Given the description of an element on the screen output the (x, y) to click on. 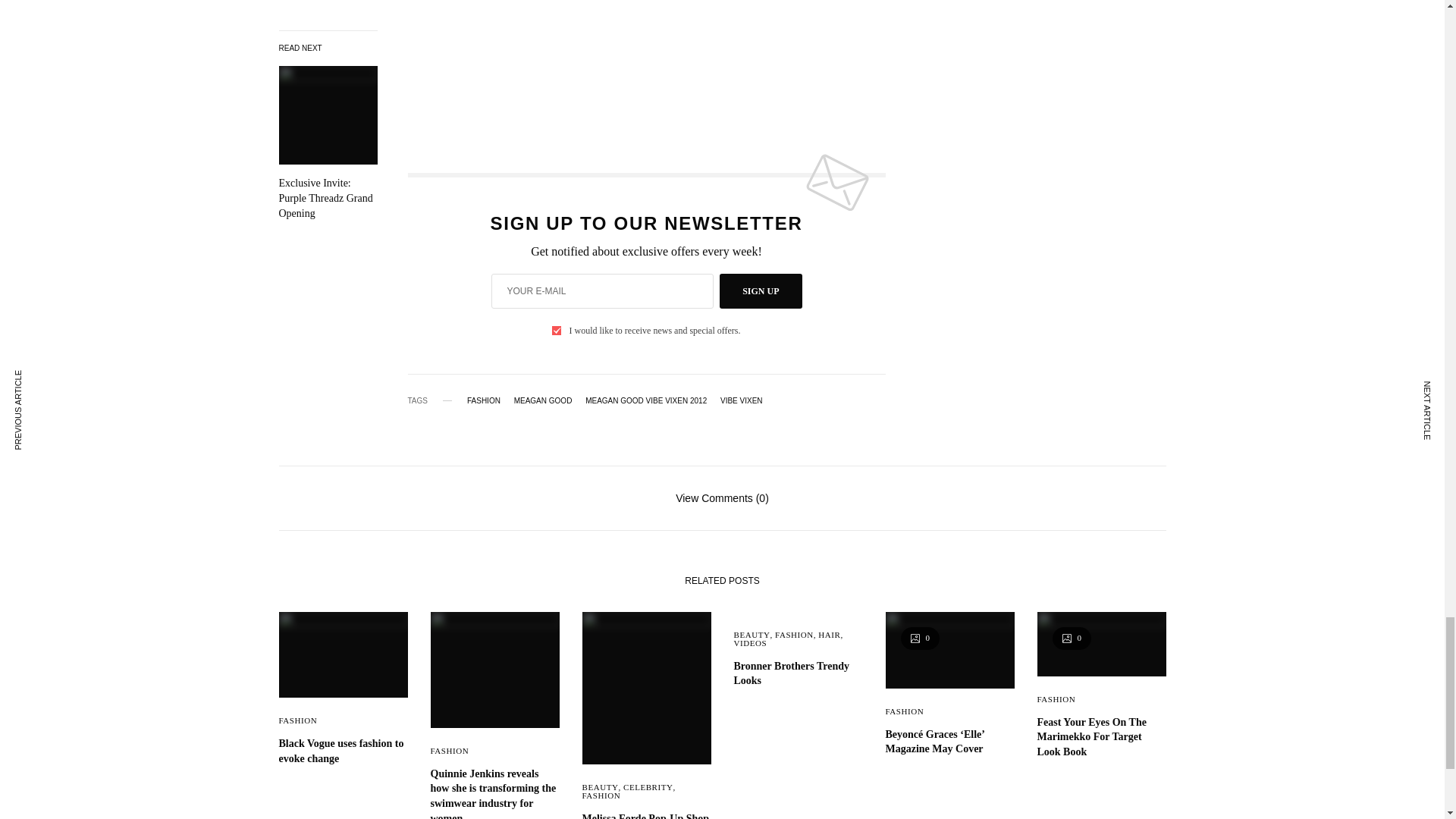
FASHION (449, 750)
Melissa Forde Pop-Up Shop 10.01.17 (646, 815)
FASHION (601, 795)
VIBE VIXEN (741, 400)
CELEBRITY (647, 786)
BEAUTY (600, 786)
SIGN UP (760, 290)
Black Vogue uses fashion to evoke change (343, 750)
FASHION (483, 400)
Black Vogue uses fashion to evoke change (343, 750)
FASHION (298, 719)
meagan-Good-vibe-vixen-300x240 (472, 54)
MEAGAN GOOD VIBE VIXEN 2012 (645, 400)
